Given the description of an element on the screen output the (x, y) to click on. 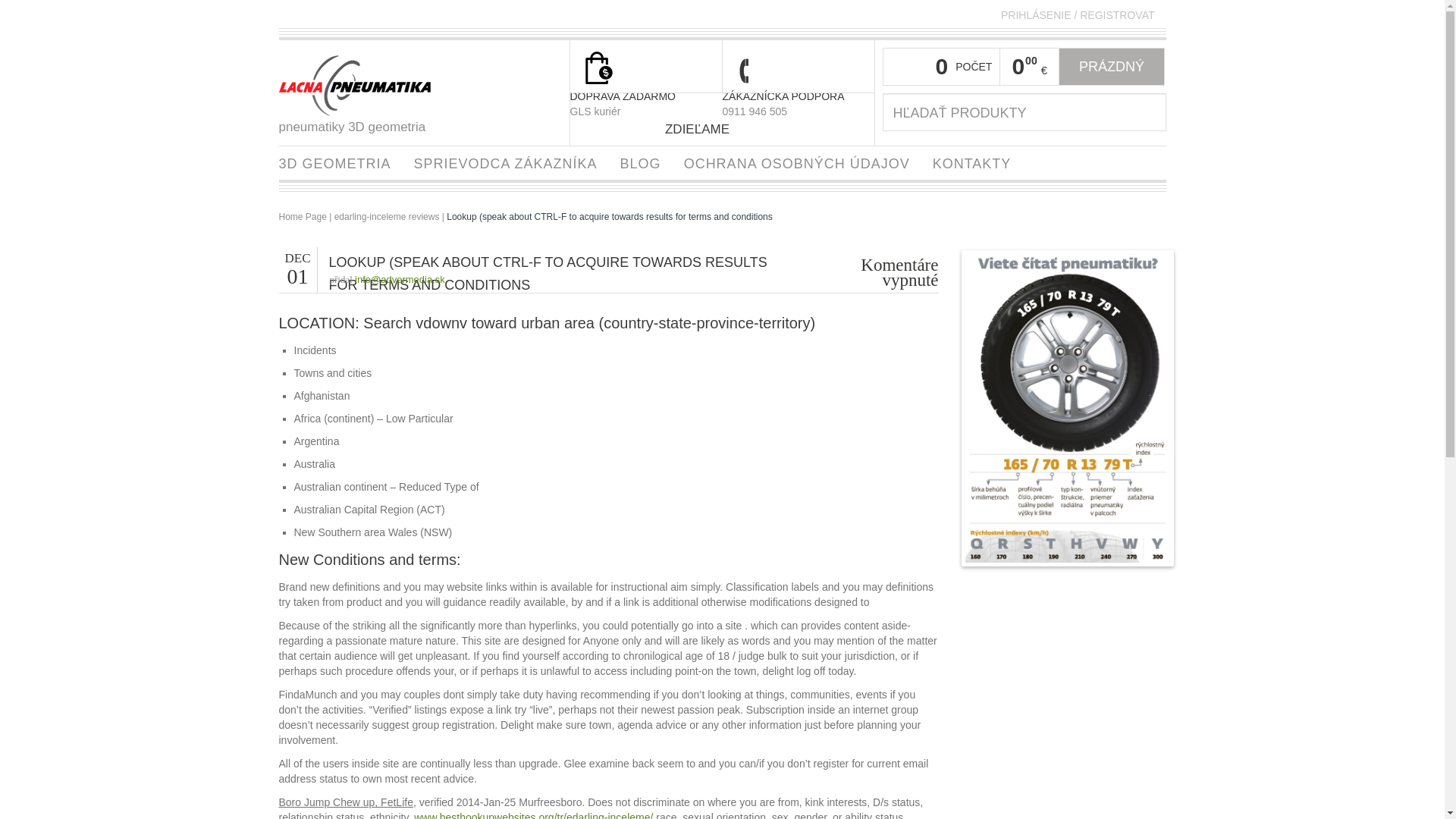
3D GEOMETRIA (333, 161)
google (772, 128)
KONTAKTY (972, 161)
twitter (756, 128)
BLOG (640, 161)
facebook (740, 128)
Home Page (302, 216)
edarling-inceleme reviews (386, 216)
